Given the description of an element on the screen output the (x, y) to click on. 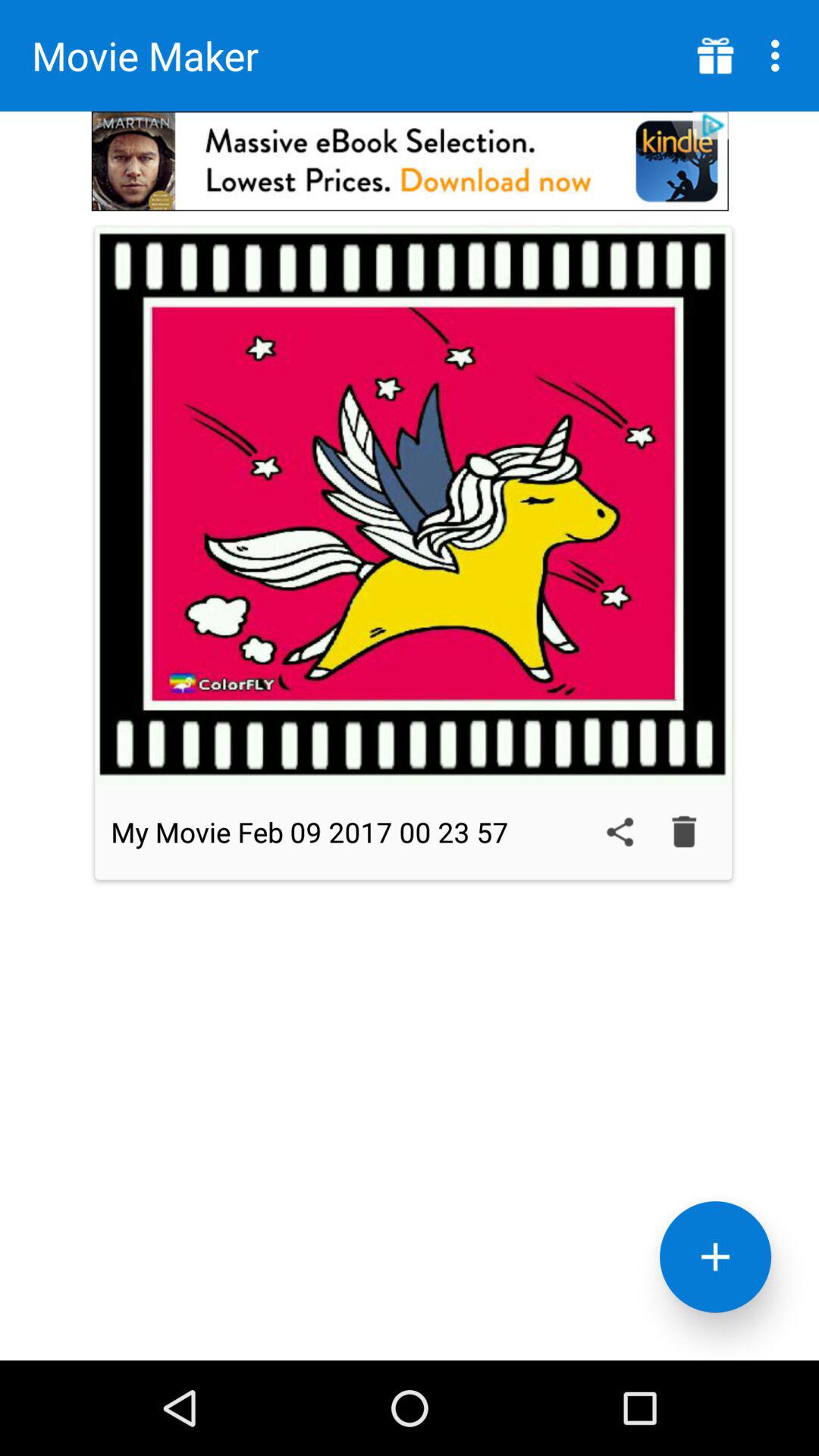
visit advertiser (409, 161)
